Given the description of an element on the screen output the (x, y) to click on. 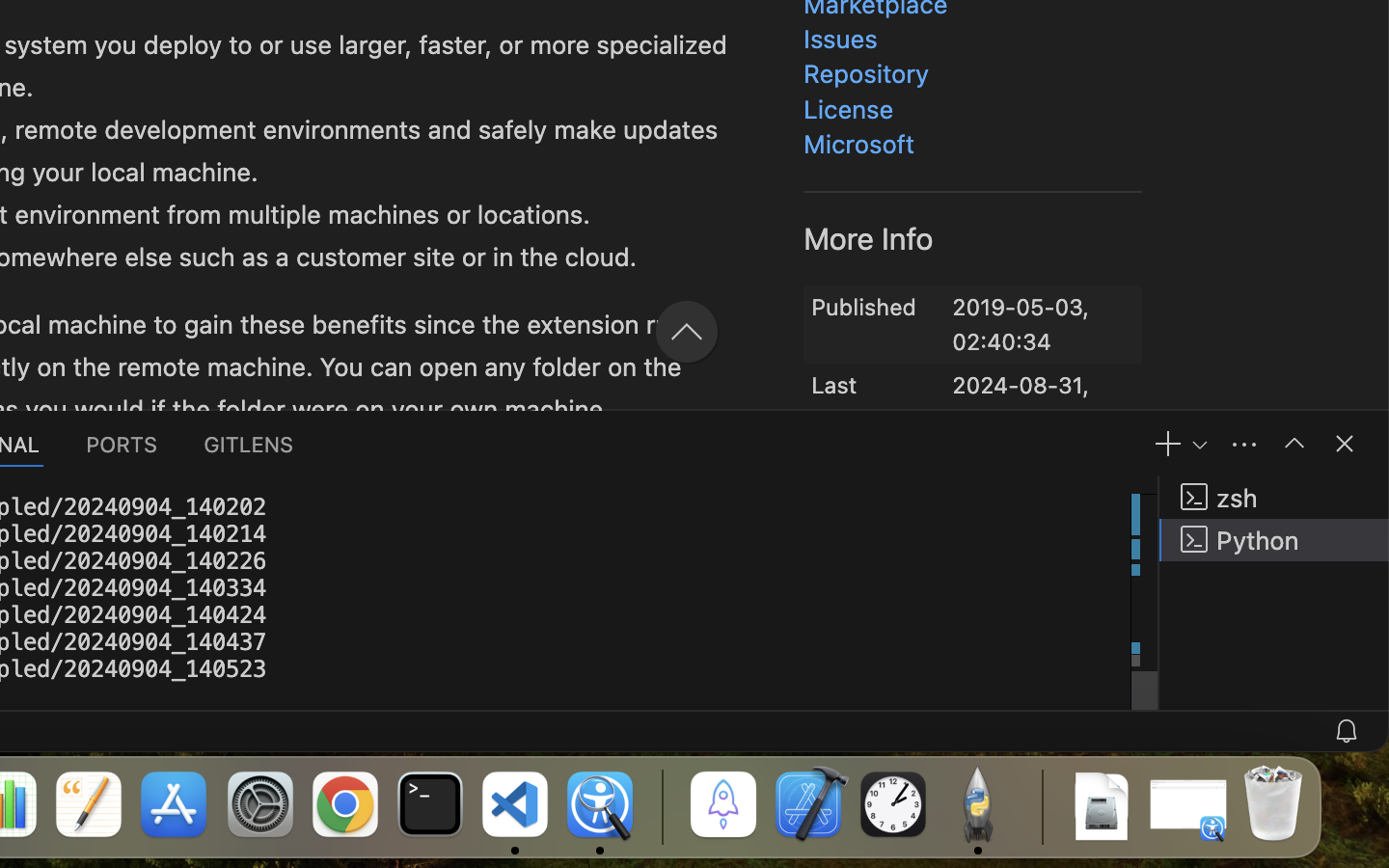
 Element type: AXCheckBox (1294, 443)
Issues Element type: AXStaticText (840, 38)
2019-05-03, 02:40:34 Element type: AXStaticText (1021, 324)
0 PORTS Element type: AXRadioButton (122, 443)
 Element type: AXButton (1344, 443)
